Given the description of an element on the screen output the (x, y) to click on. 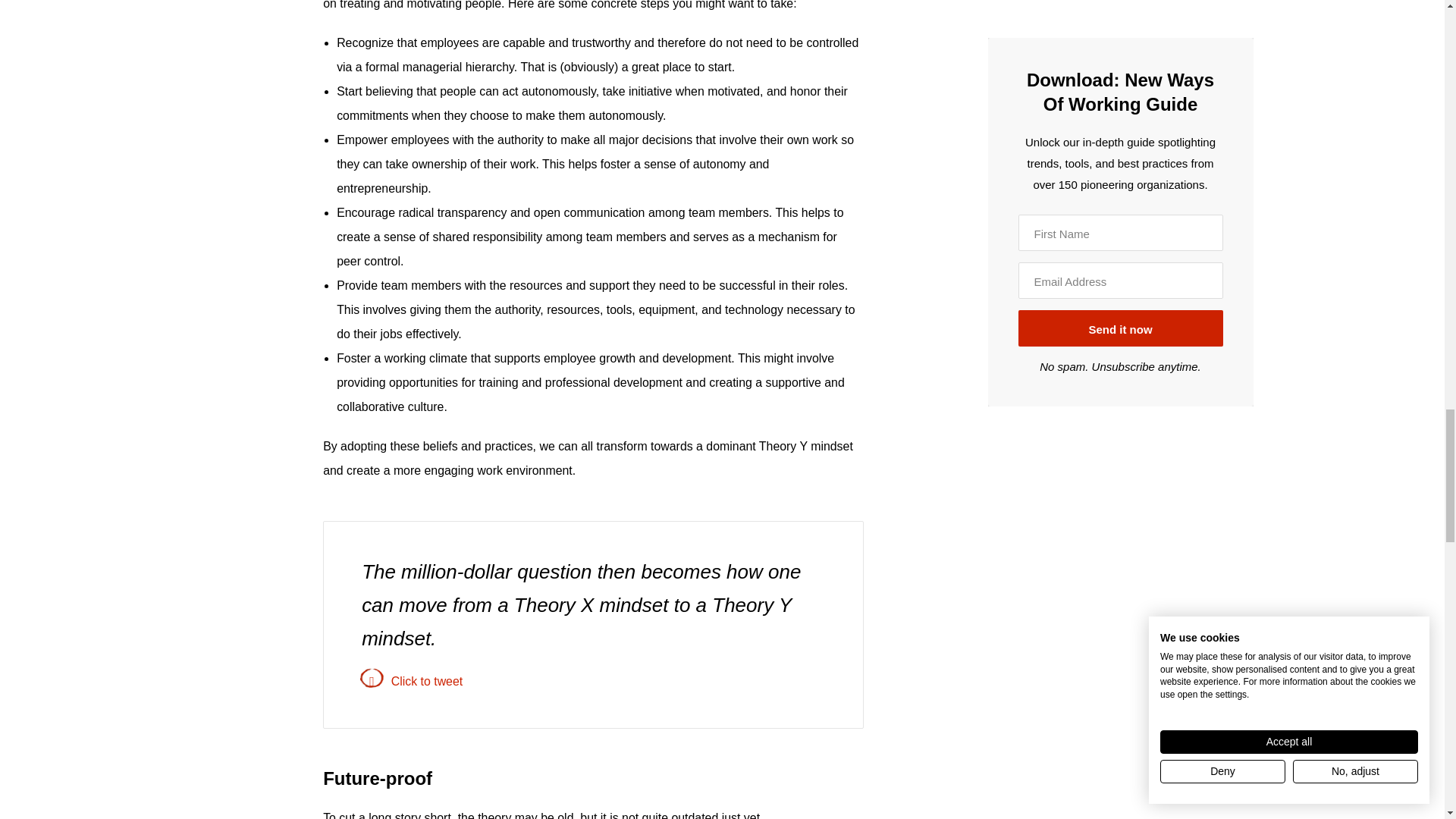
Click to tweet (593, 681)
